Given the description of an element on the screen output the (x, y) to click on. 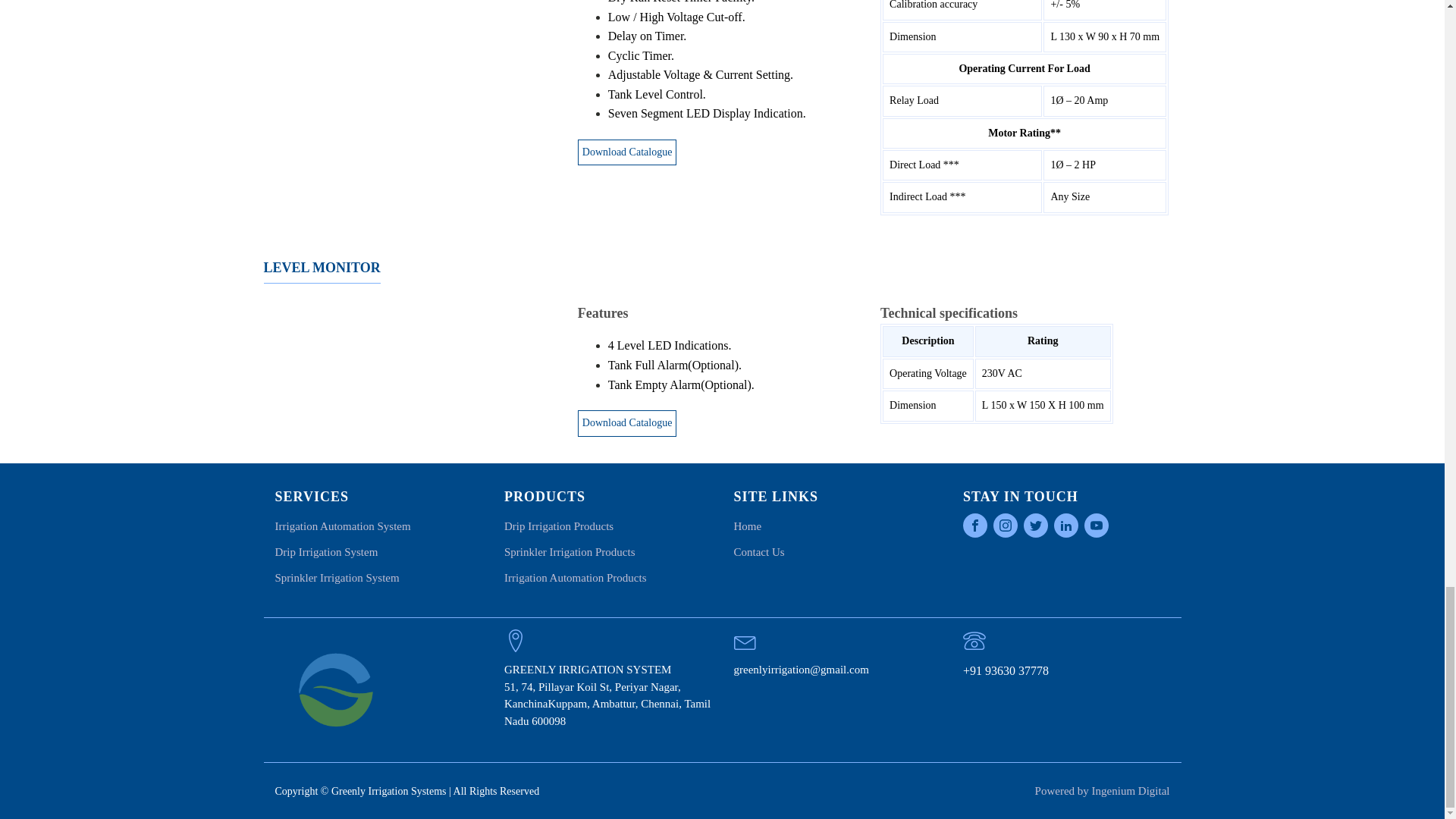
Drip Irrigation System (326, 551)
Download Catalogue (627, 152)
Download Catalogue (627, 422)
Irrigation Automation System (342, 525)
